Given the description of an element on the screen output the (x, y) to click on. 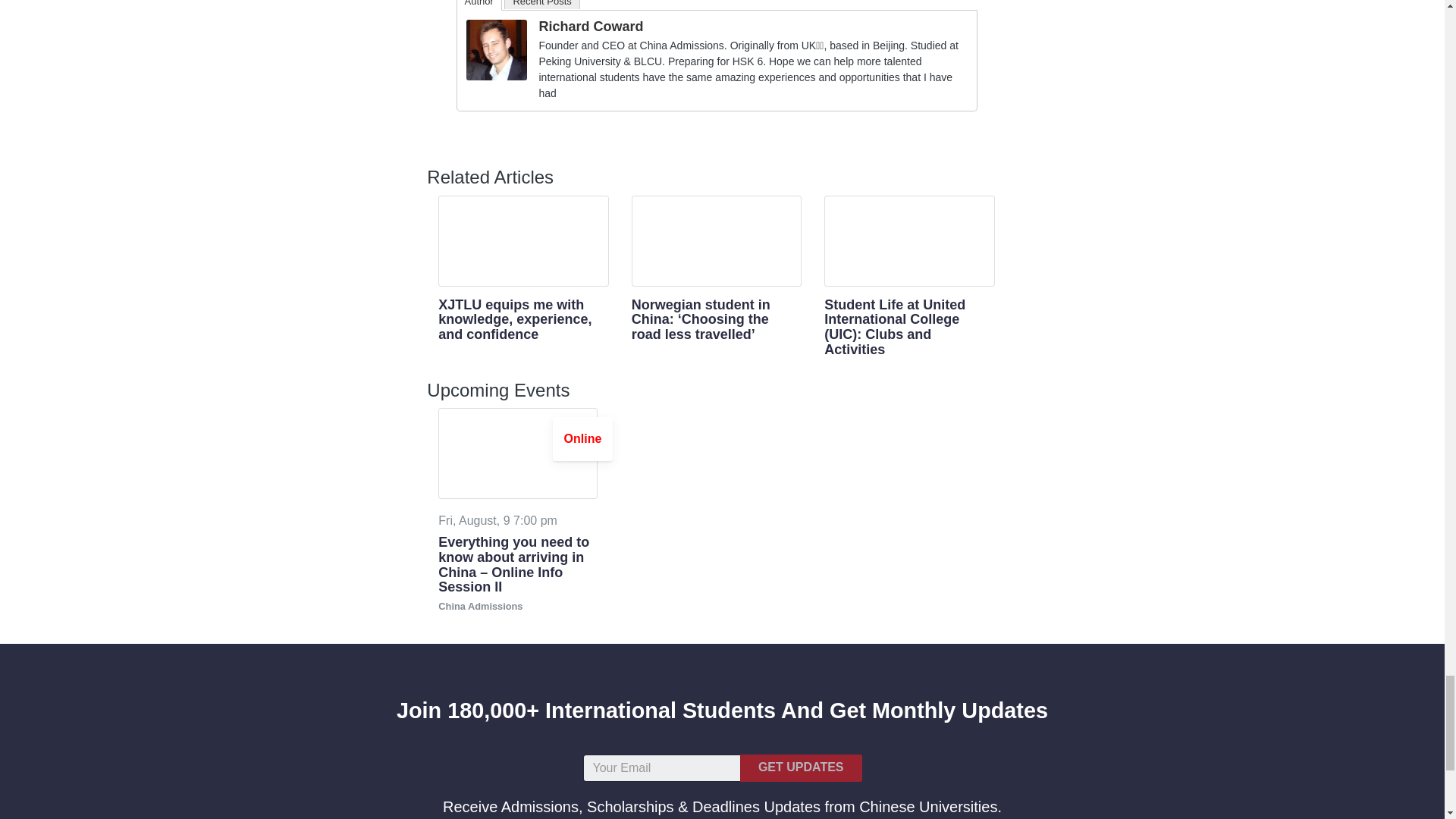
Richard Coward (495, 48)
